Given the description of an element on the screen output the (x, y) to click on. 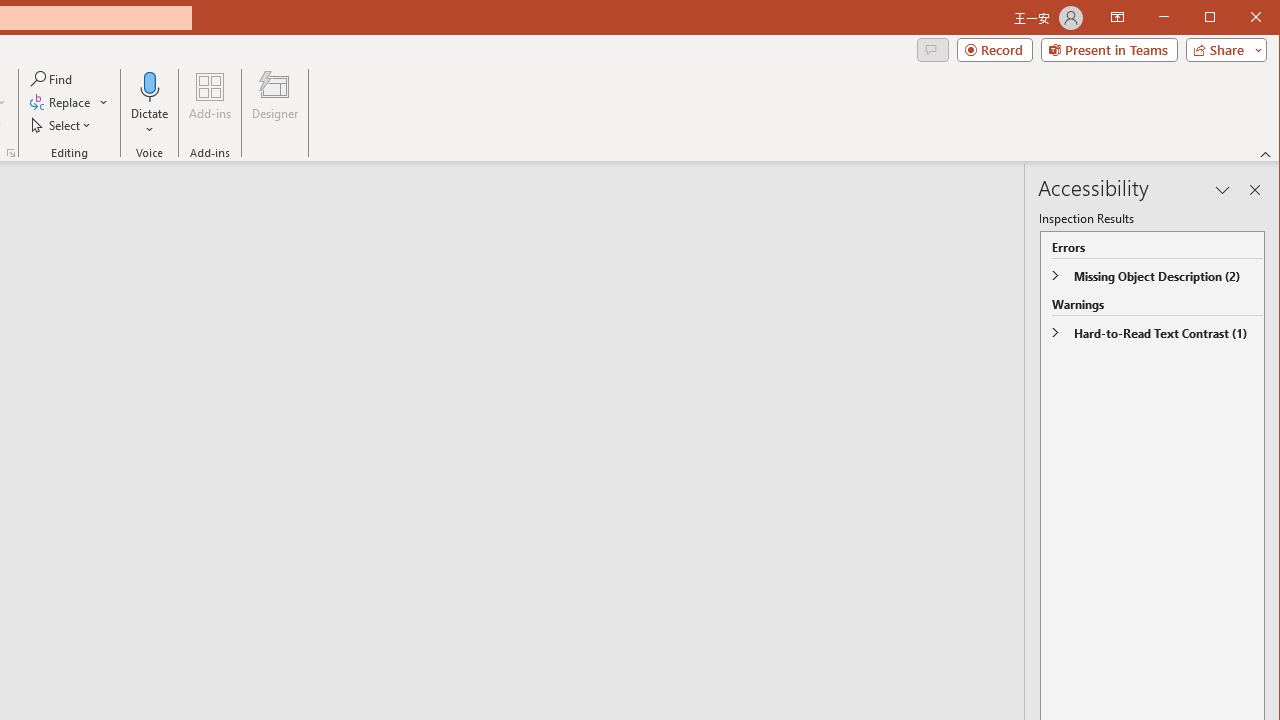
Find... (52, 78)
Format Object... (10, 152)
Select (62, 124)
Maximize (1238, 18)
